Given the description of an element on the screen output the (x, y) to click on. 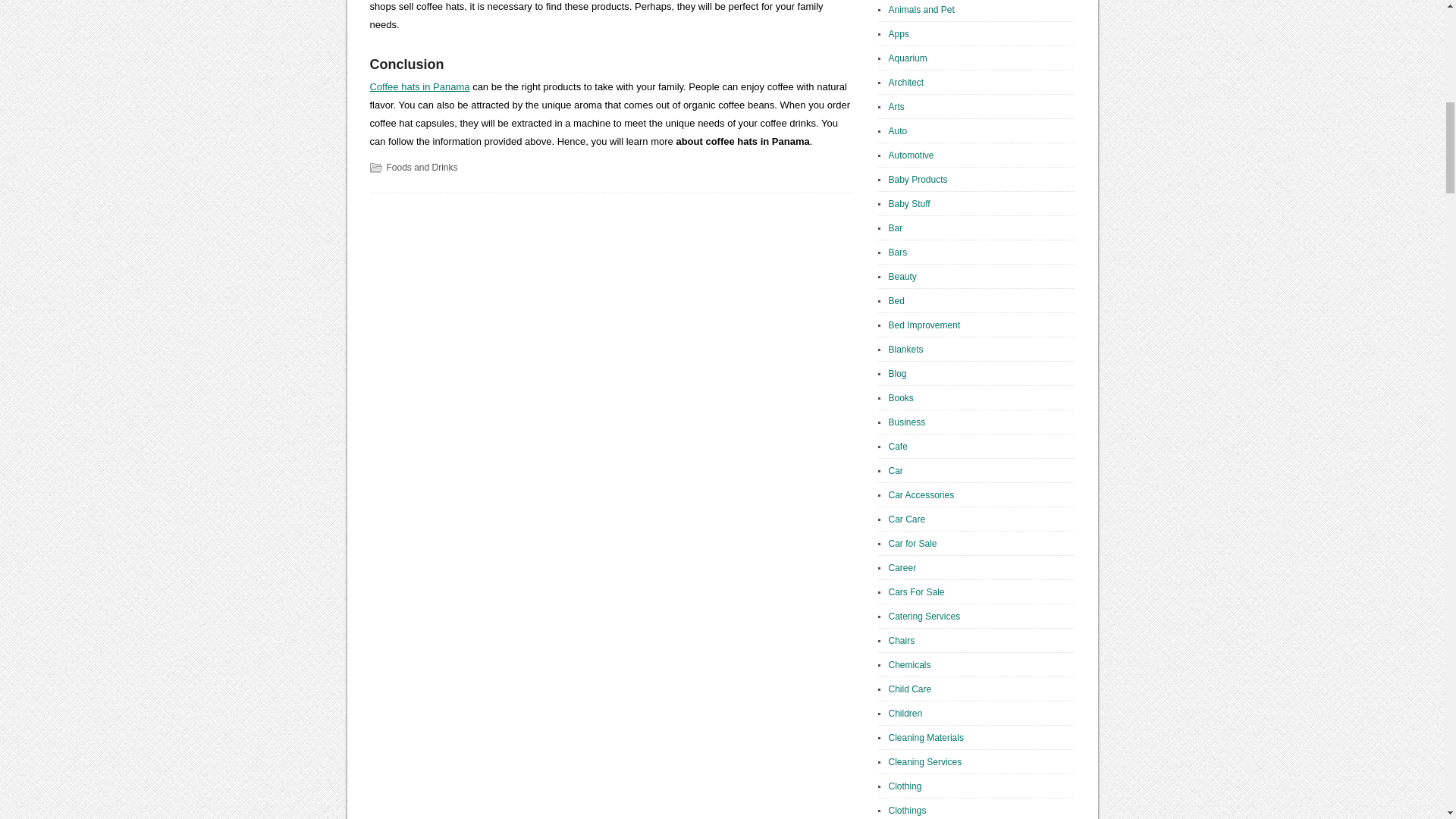
Bar (895, 227)
Bed (896, 300)
Foods and Drinks (422, 167)
Beauty (902, 276)
Arts (896, 106)
Bed Improvement (924, 325)
Apps (898, 33)
Auto (897, 131)
Bars (897, 252)
Animals and Pet (921, 9)
Automotive (911, 154)
Baby Products (917, 179)
Aquarium (907, 58)
Baby Stuff (909, 204)
Architect (906, 81)
